Given the description of an element on the screen output the (x, y) to click on. 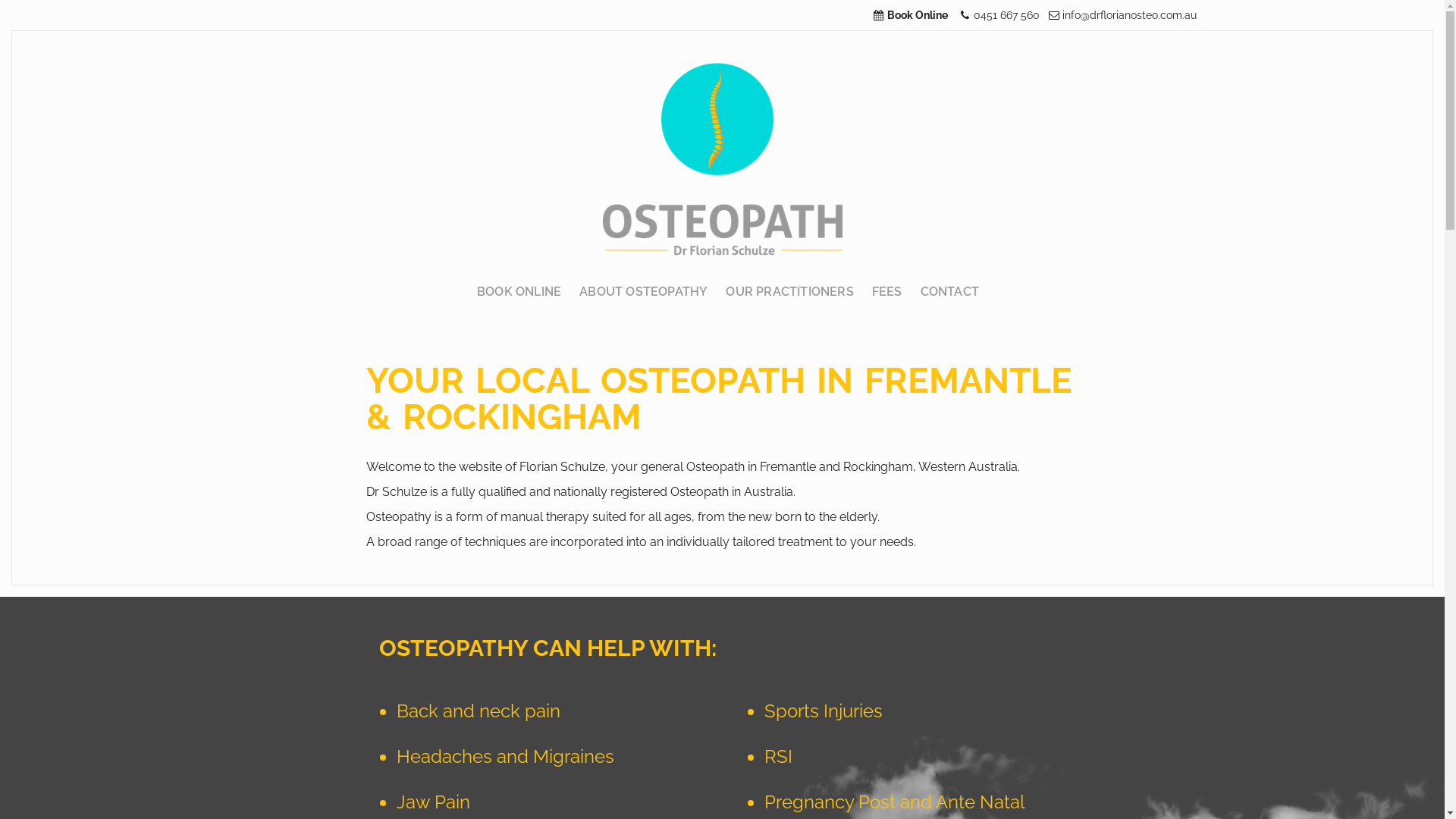
Book Online Element type: text (910, 15)
OUR PRACTITIONERS Element type: text (789, 291)
0451 667 560 Element type: text (999, 15)
info@drflorianosteo.com.au Element type: text (1121, 15)
CONTACT Element type: text (949, 291)
FEES Element type: text (887, 291)
ABOUT OSTEOPATHY Element type: text (643, 291)
BOOK ONLINE Element type: text (518, 291)
